Given the description of an element on the screen output the (x, y) to click on. 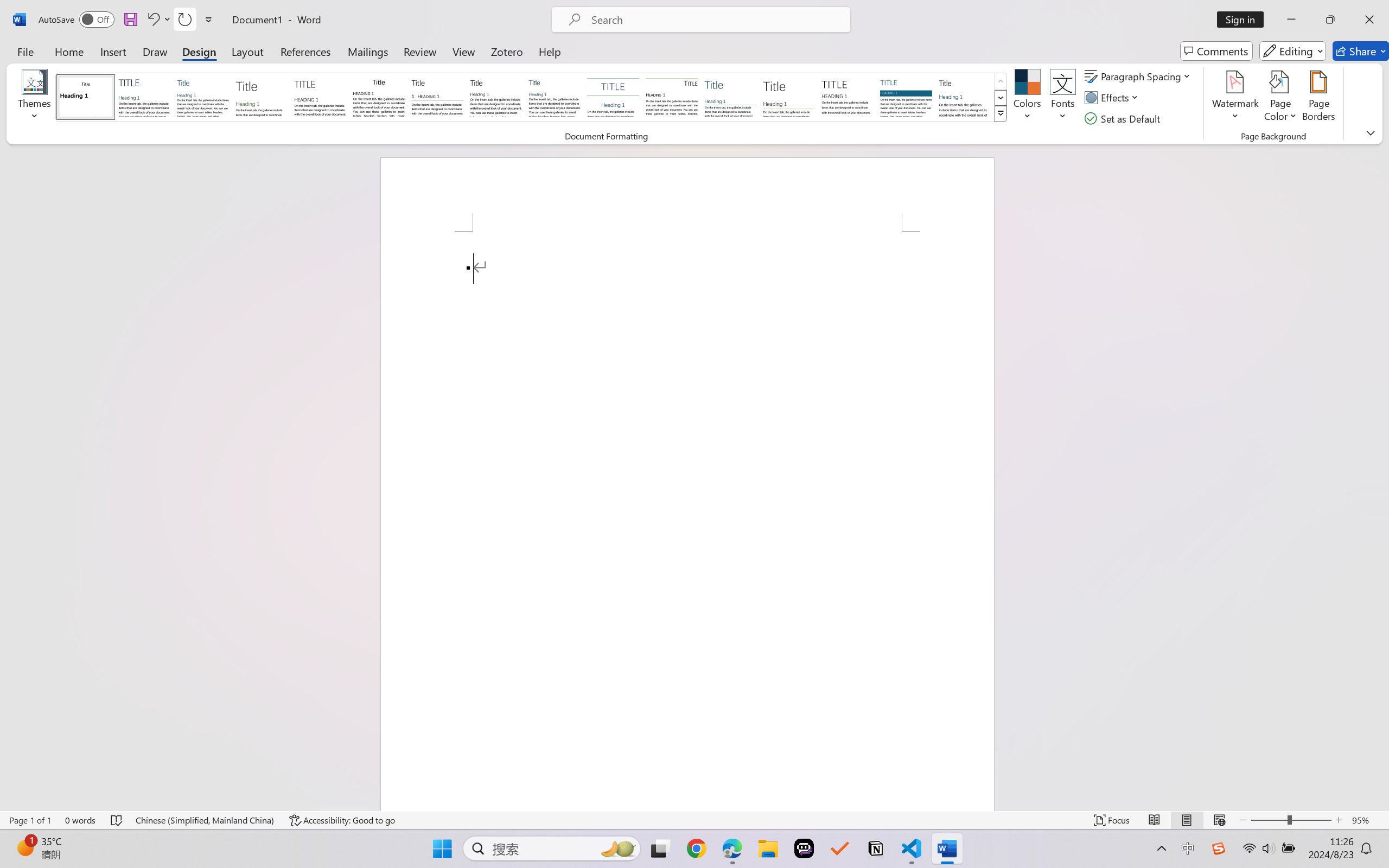
Fonts (1062, 97)
Undo Style (158, 19)
Themes (34, 97)
Black & White (Numbered) (437, 96)
Word (964, 96)
Undo Style (152, 19)
